Given the description of an element on the screen output the (x, y) to click on. 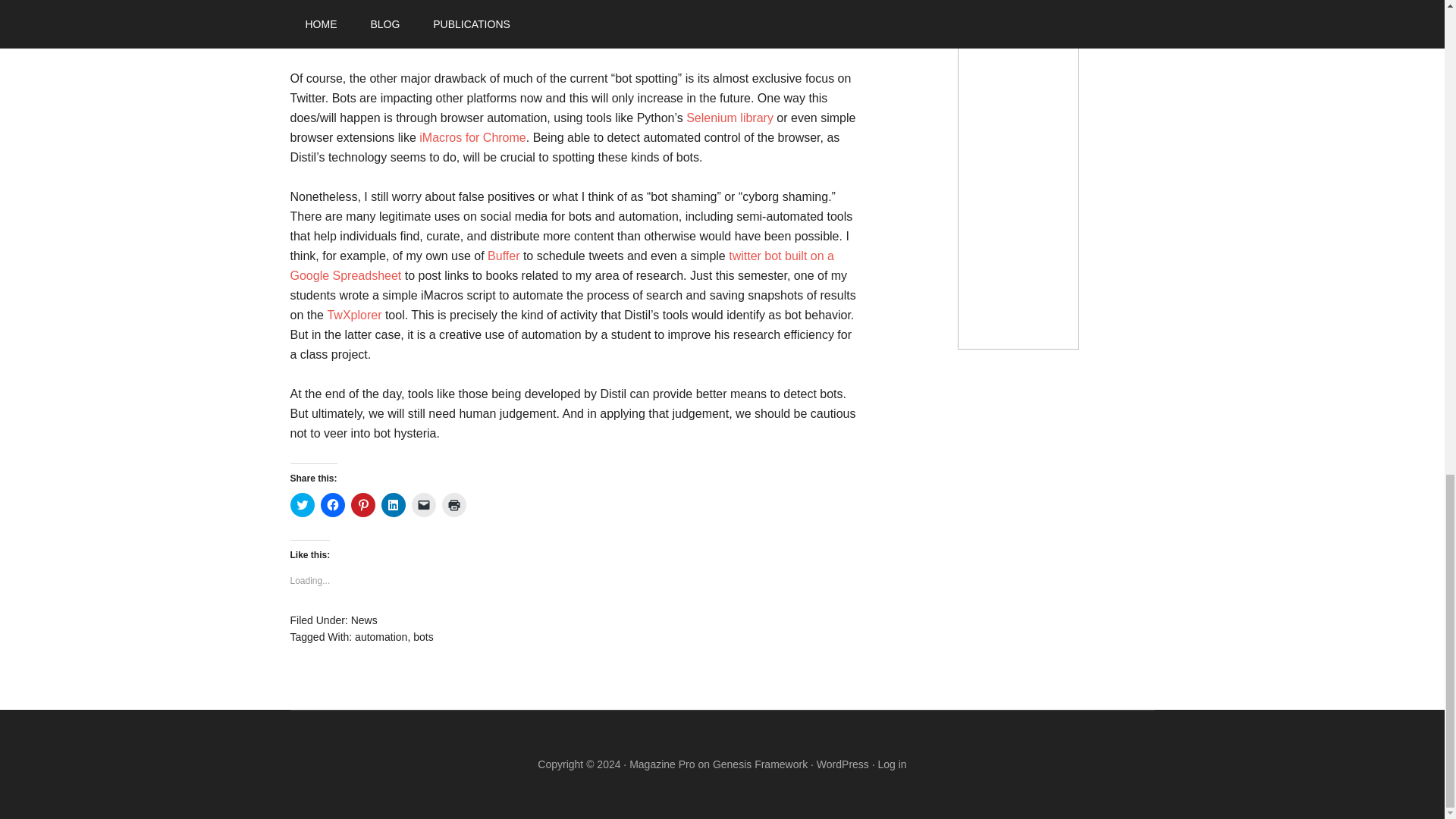
Click to share on Twitter (301, 504)
Buffer (503, 255)
Magazine Pro (661, 764)
TwXplorer (353, 314)
Click to share on Facebook (331, 504)
iMacros for Chrome (472, 137)
Click to email a link to a friend (422, 504)
Click to share on LinkedIn (392, 504)
Selenium library (729, 117)
automation (381, 636)
